Given the description of an element on the screen output the (x, y) to click on. 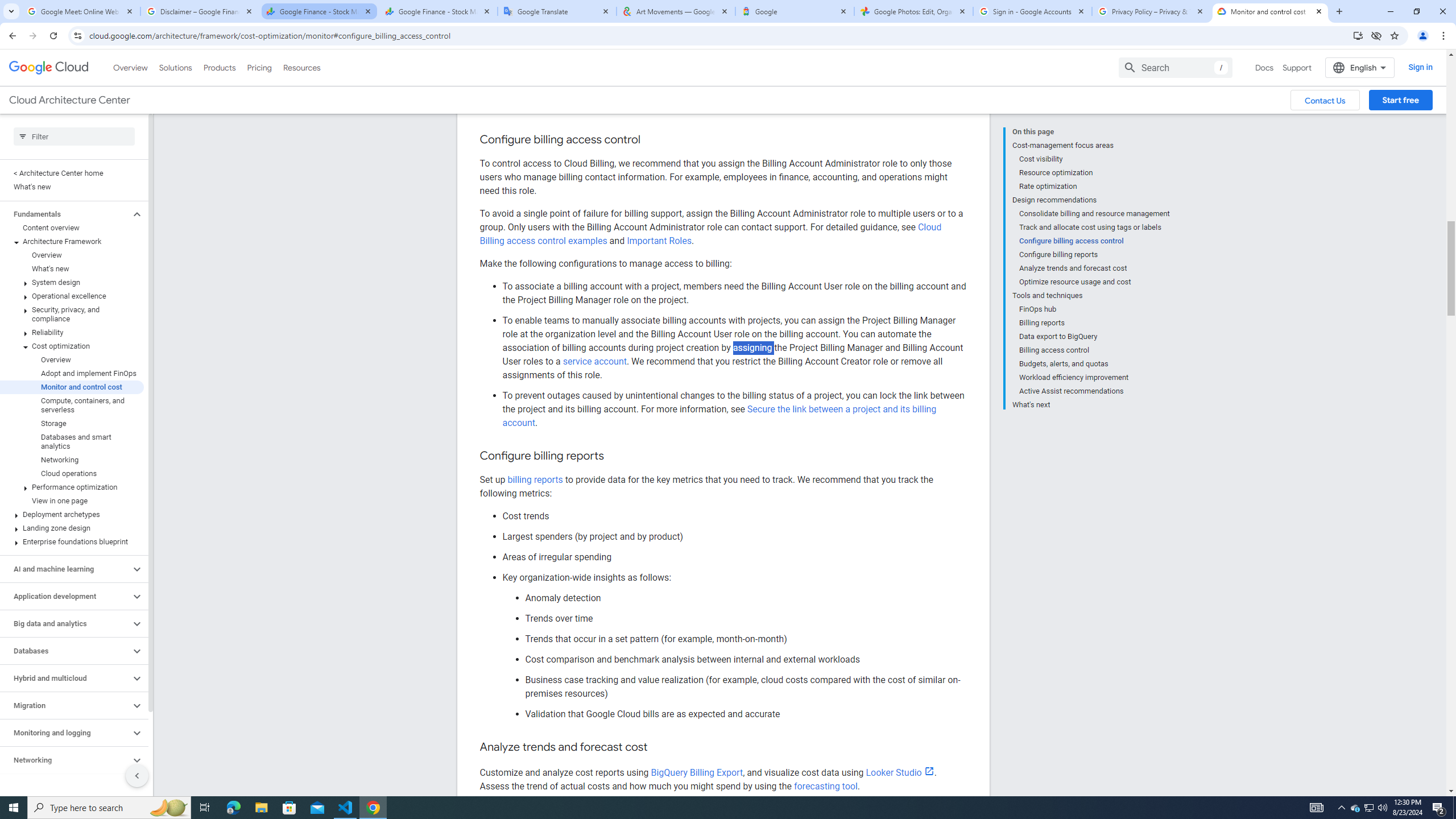
Big data and analytics (64, 574)
Pricing (259, 18)
Adopt and implement FinOps (72, 323)
Cost visibility (1094, 109)
Networking (64, 710)
Security, privacy, and compliance (72, 264)
Databases (64, 601)
Architecture Framework (72, 192)
Storage (72, 373)
What's next (1090, 354)
